Given the description of an element on the screen output the (x, y) to click on. 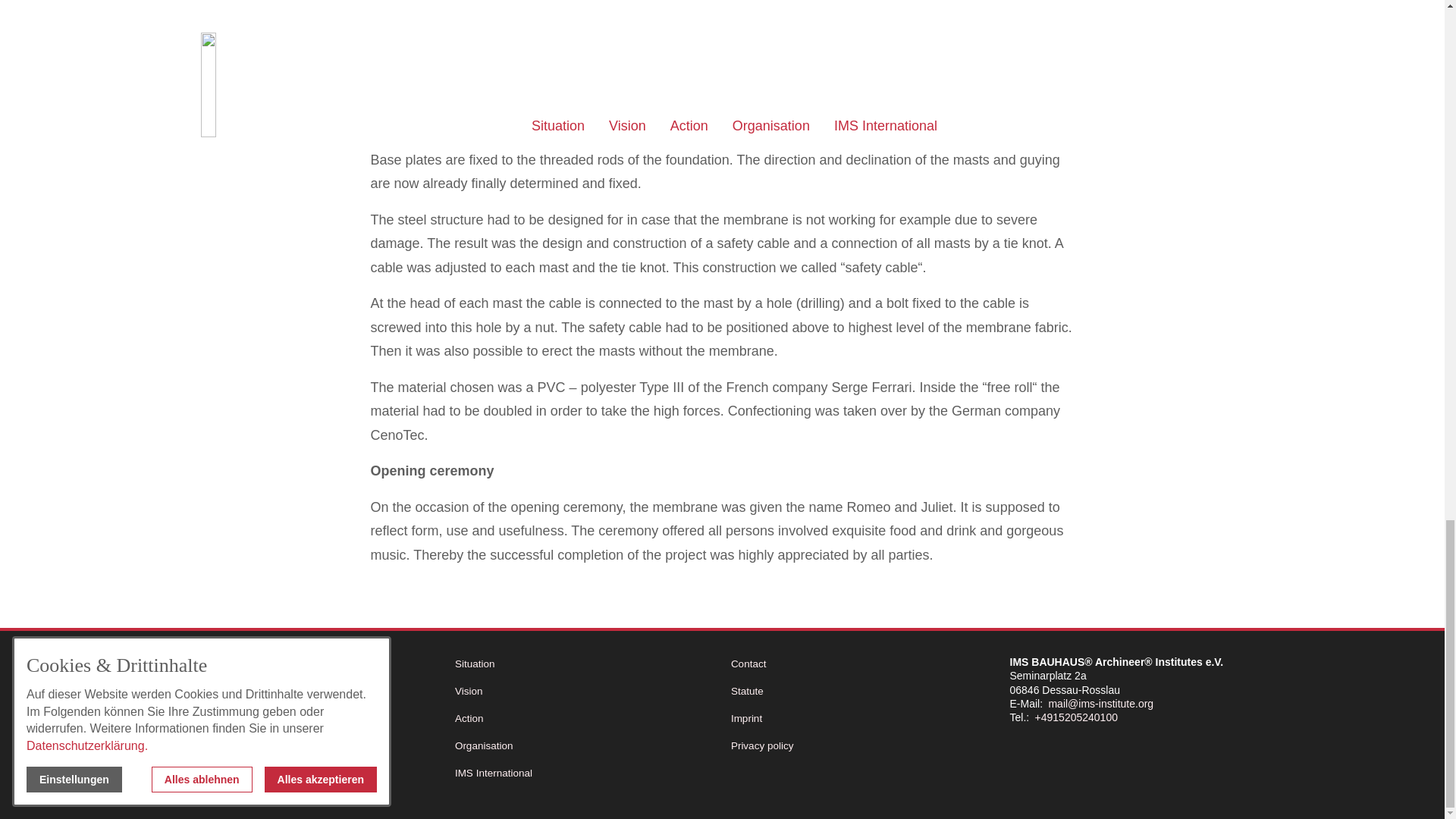
Organisation (583, 746)
IMS International (583, 773)
Contact (859, 664)
Statute (859, 691)
Vision (583, 691)
Action (583, 719)
Privacy policy (859, 746)
Imprint (859, 719)
Situation (583, 664)
